Given the description of an element on the screen output the (x, y) to click on. 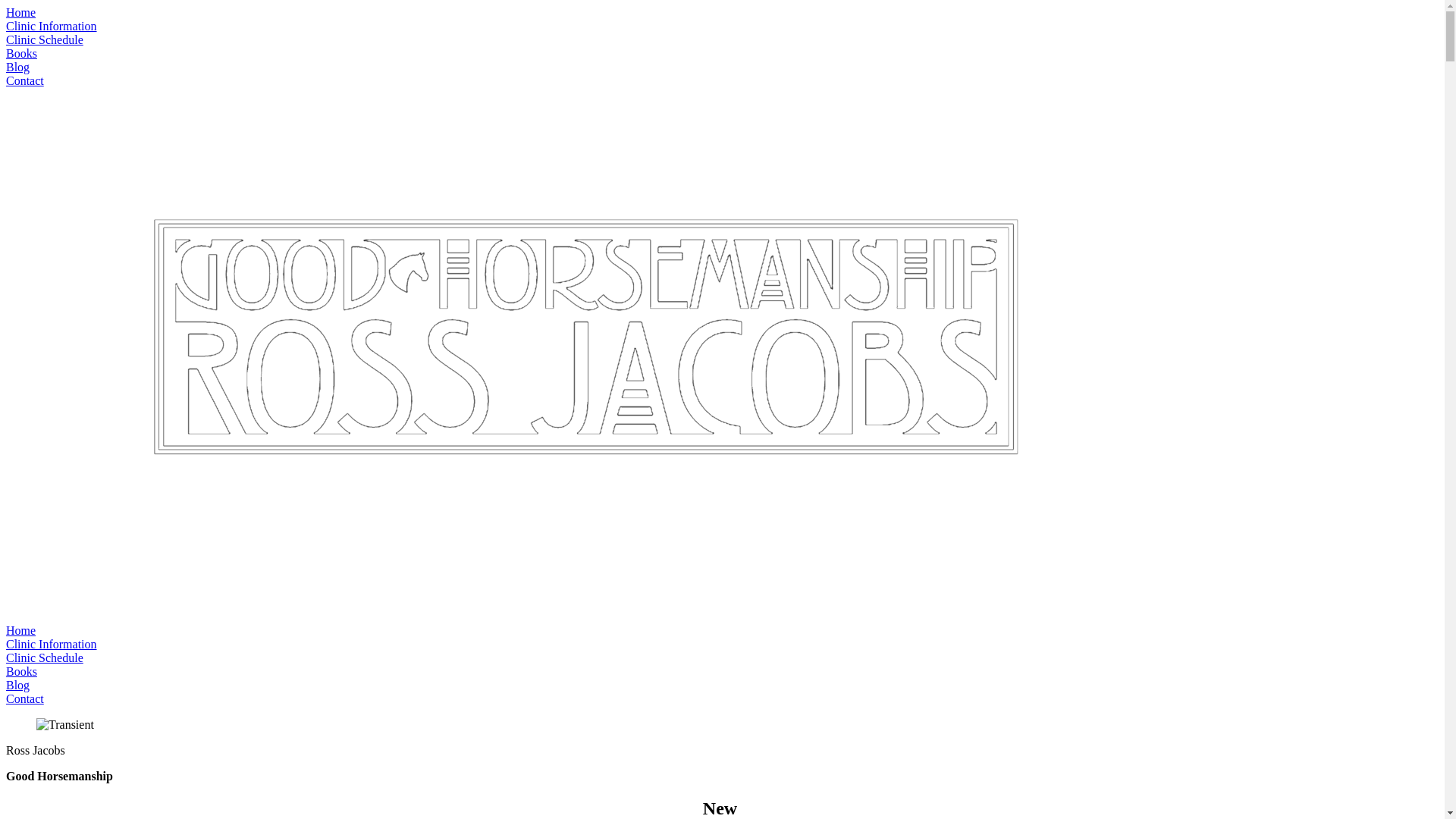
Books Element type: text (21, 53)
Clinic Schedule Element type: text (44, 39)
Clinic Schedule Element type: text (44, 657)
Contact Element type: text (24, 80)
Blog Element type: text (17, 684)
Contact Element type: text (24, 698)
Books Element type: text (21, 671)
Home Element type: text (20, 630)
Blog Element type: text (17, 66)
Clinic Information Element type: text (51, 643)
Clinic Information Element type: text (51, 25)
Home Element type: text (20, 12)
